Given the description of an element on the screen output the (x, y) to click on. 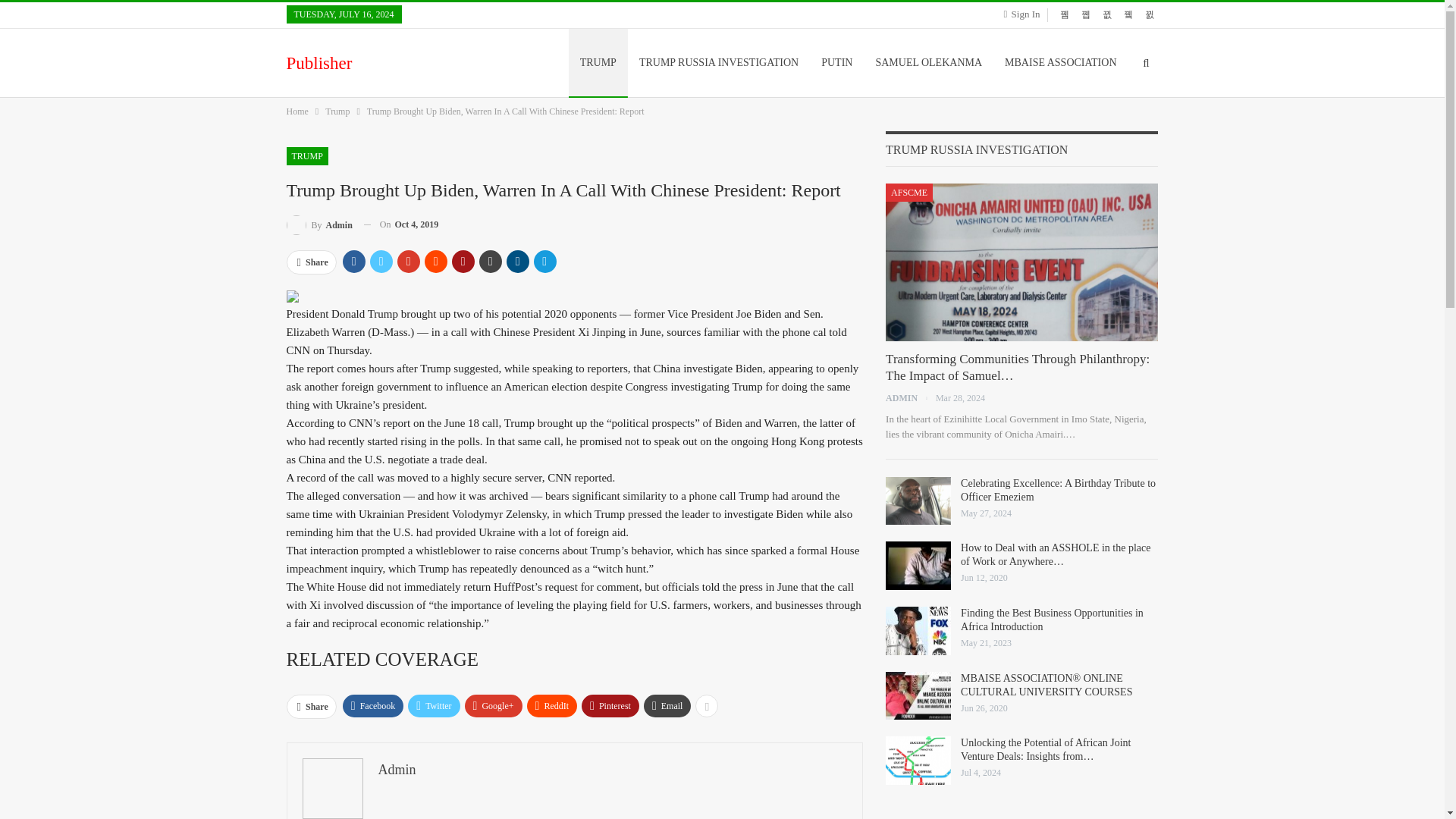
ReddIt (552, 705)
TRUMP (307, 156)
Sign In (1025, 13)
MBAISE ASSOCIATION (1059, 62)
Publisher (322, 62)
Pinterest (609, 705)
Twitter (433, 705)
By Admin (319, 224)
TRUMP RUSSIA INVESTIGATION (718, 62)
Browse Author Articles (910, 398)
Browse Author Articles (319, 224)
Trump (336, 111)
Home (297, 111)
